Given the description of an element on the screen output the (x, y) to click on. 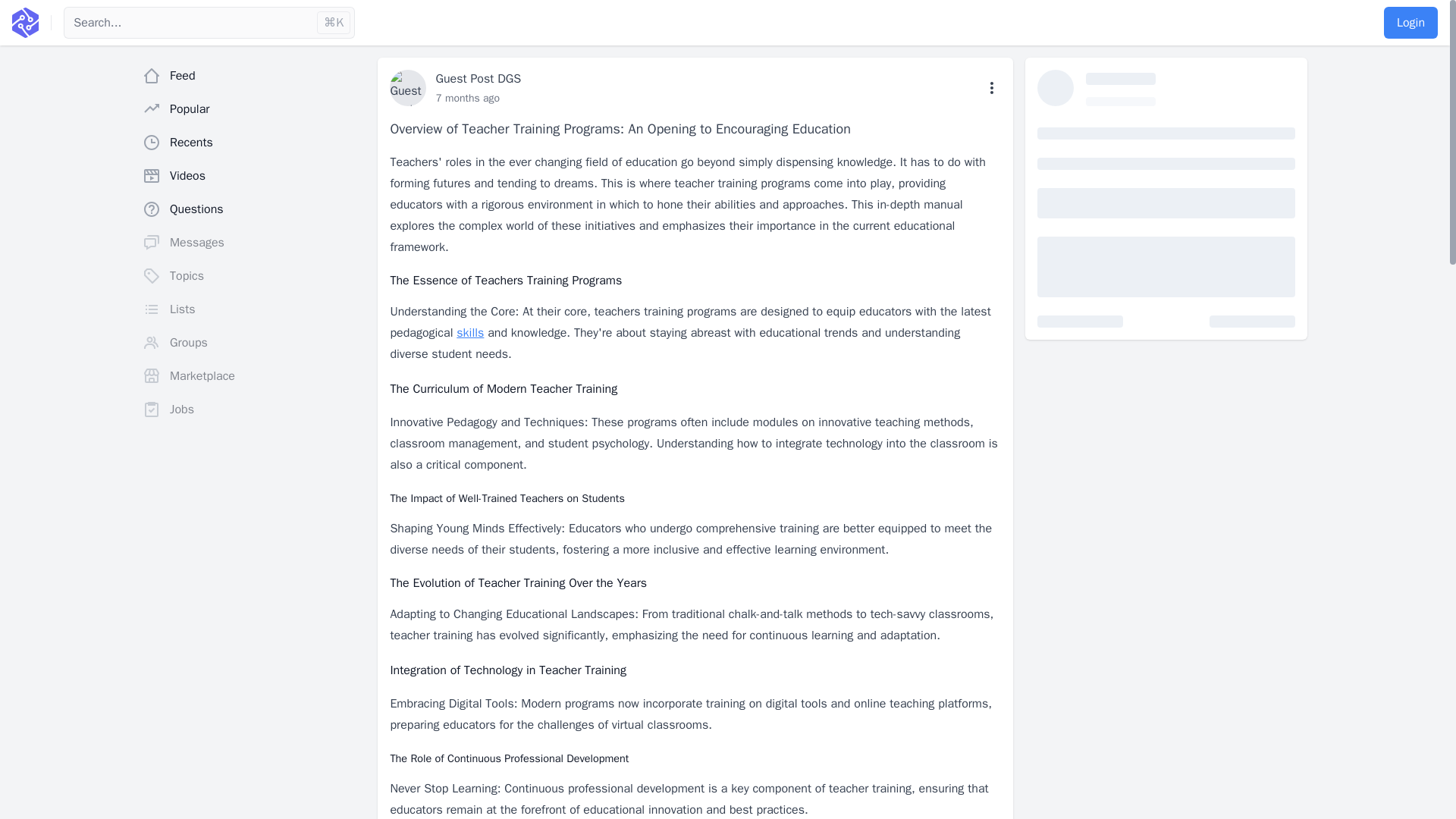
Popular (253, 109)
skills (470, 332)
Login (1411, 22)
Questions (253, 209)
Feed (253, 75)
7 months ago (467, 97)
Recents (253, 142)
Guest Post DGS (478, 78)
Videos (253, 175)
Open options (991, 87)
